Given the description of an element on the screen output the (x, y) to click on. 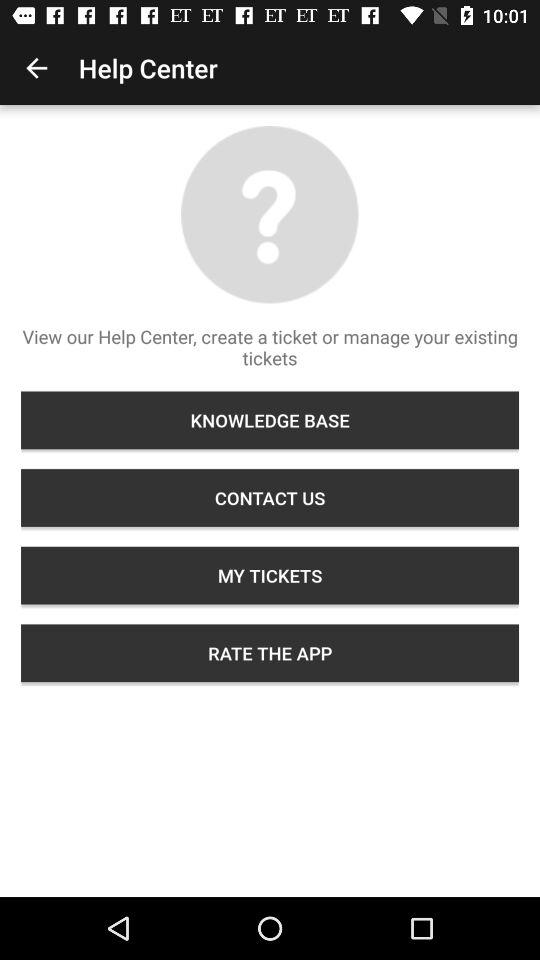
click item to the left of the help center icon (36, 68)
